Given the description of an element on the screen output the (x, y) to click on. 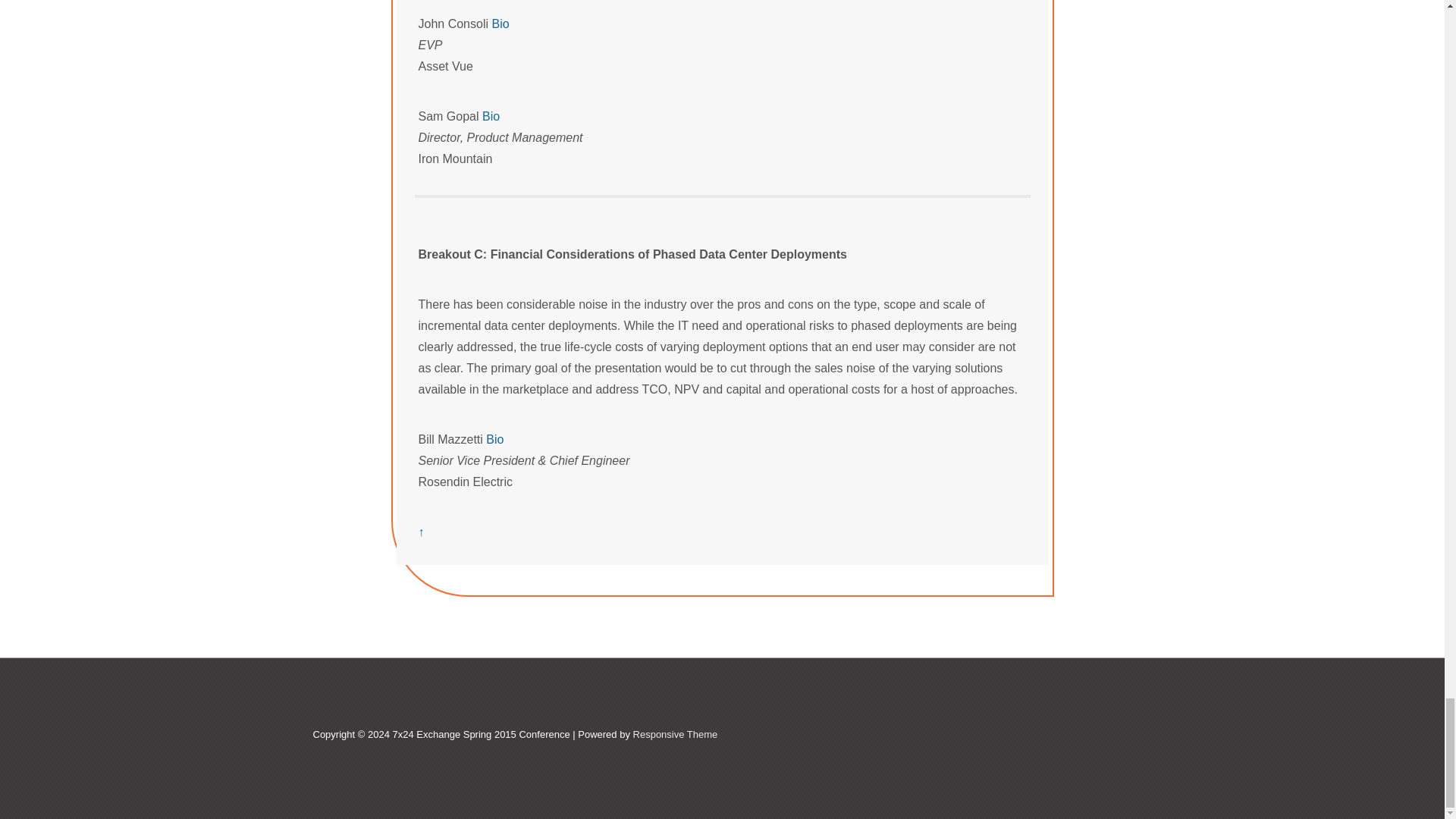
Bio (490, 115)
Bio (500, 23)
